Given the description of an element on the screen output the (x, y) to click on. 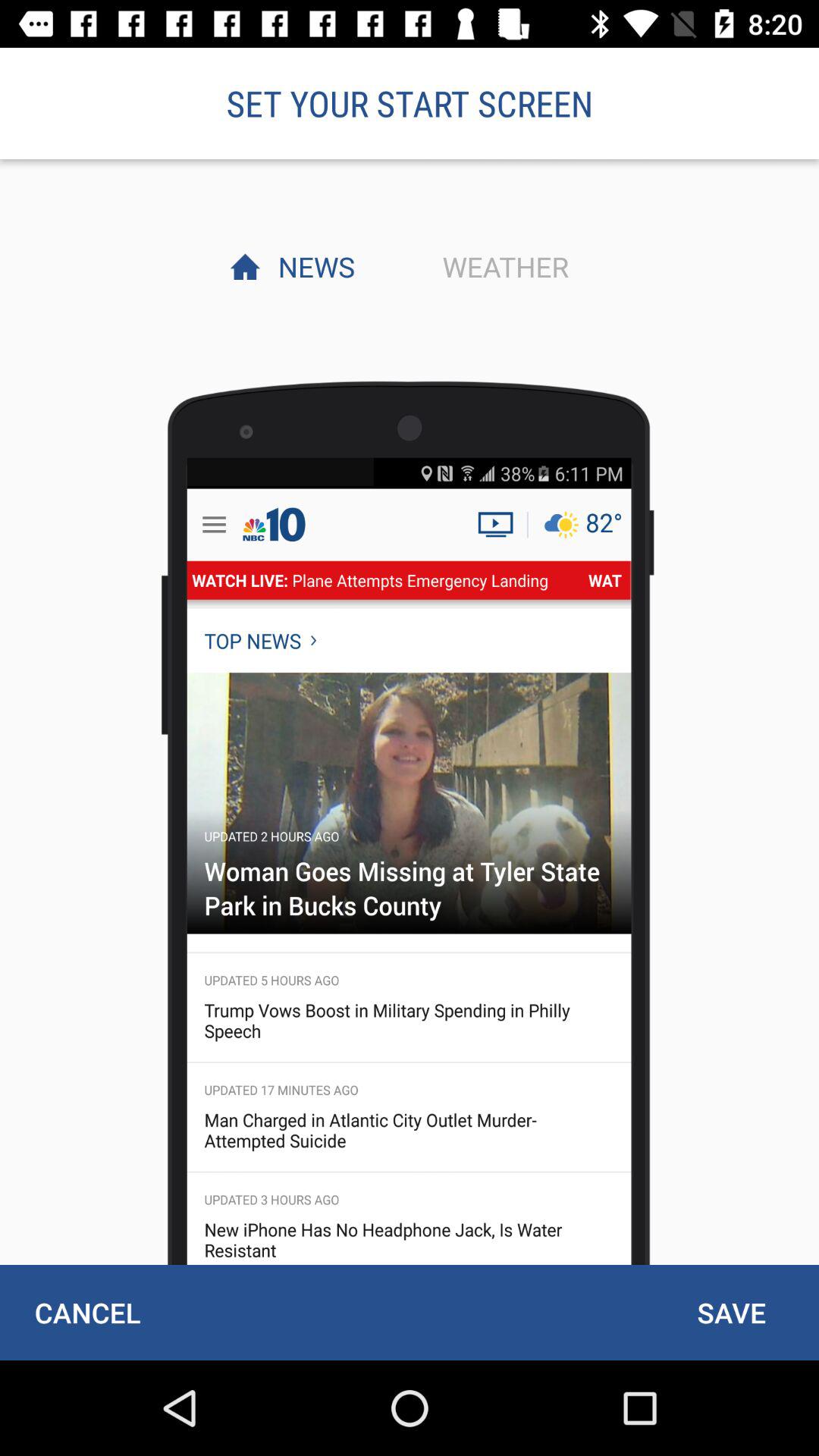
open the item above the news item (409, 103)
